Given the description of an element on the screen output the (x, y) to click on. 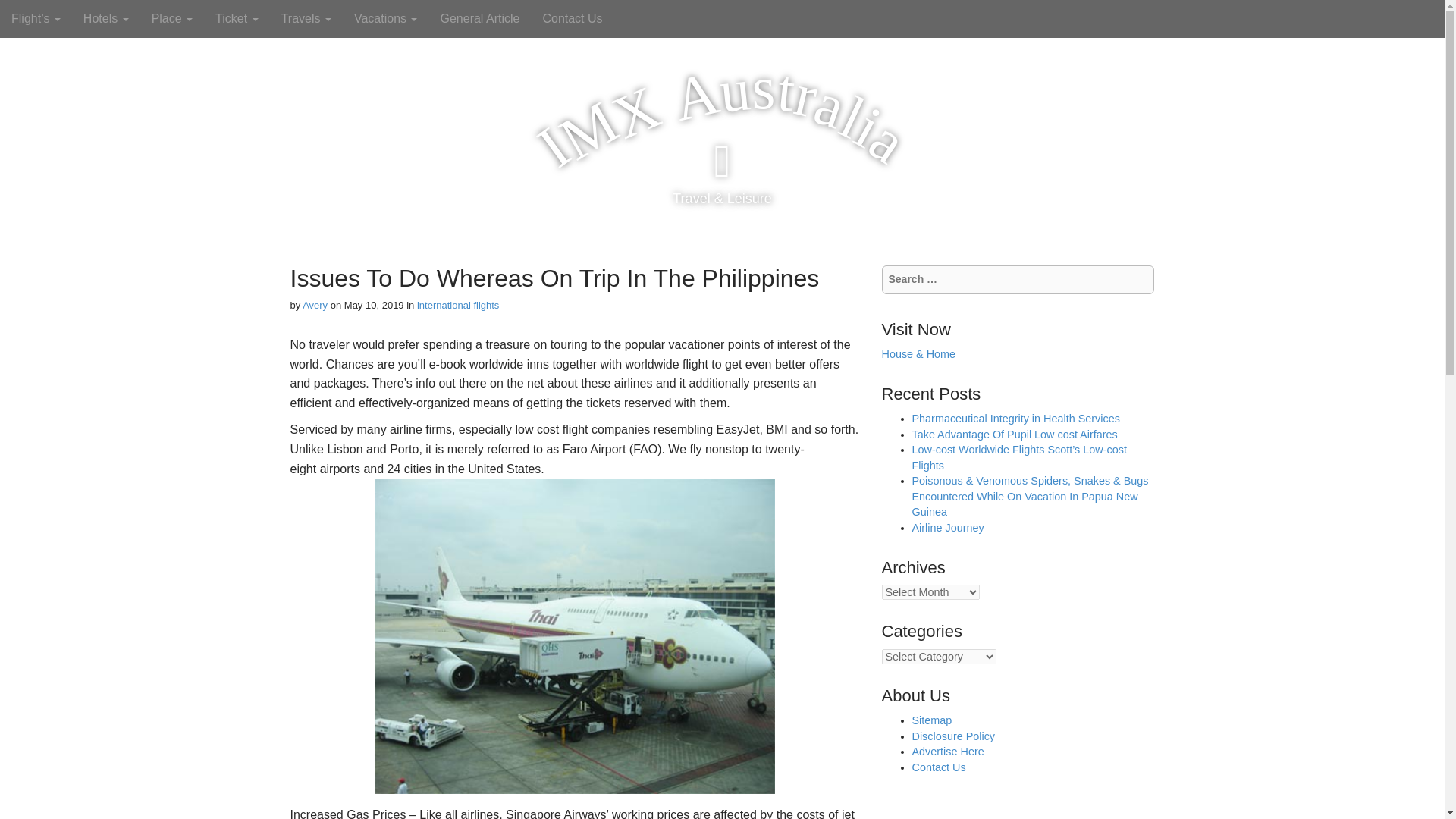
Hotels (105, 18)
international flights (457, 305)
Vacations (385, 18)
Contact Us (571, 18)
General Article (479, 18)
Travels (305, 18)
Ticket (236, 18)
Avery (314, 305)
Posts by Avery (314, 305)
May 10, 2019 (373, 305)
